Given the description of an element on the screen output the (x, y) to click on. 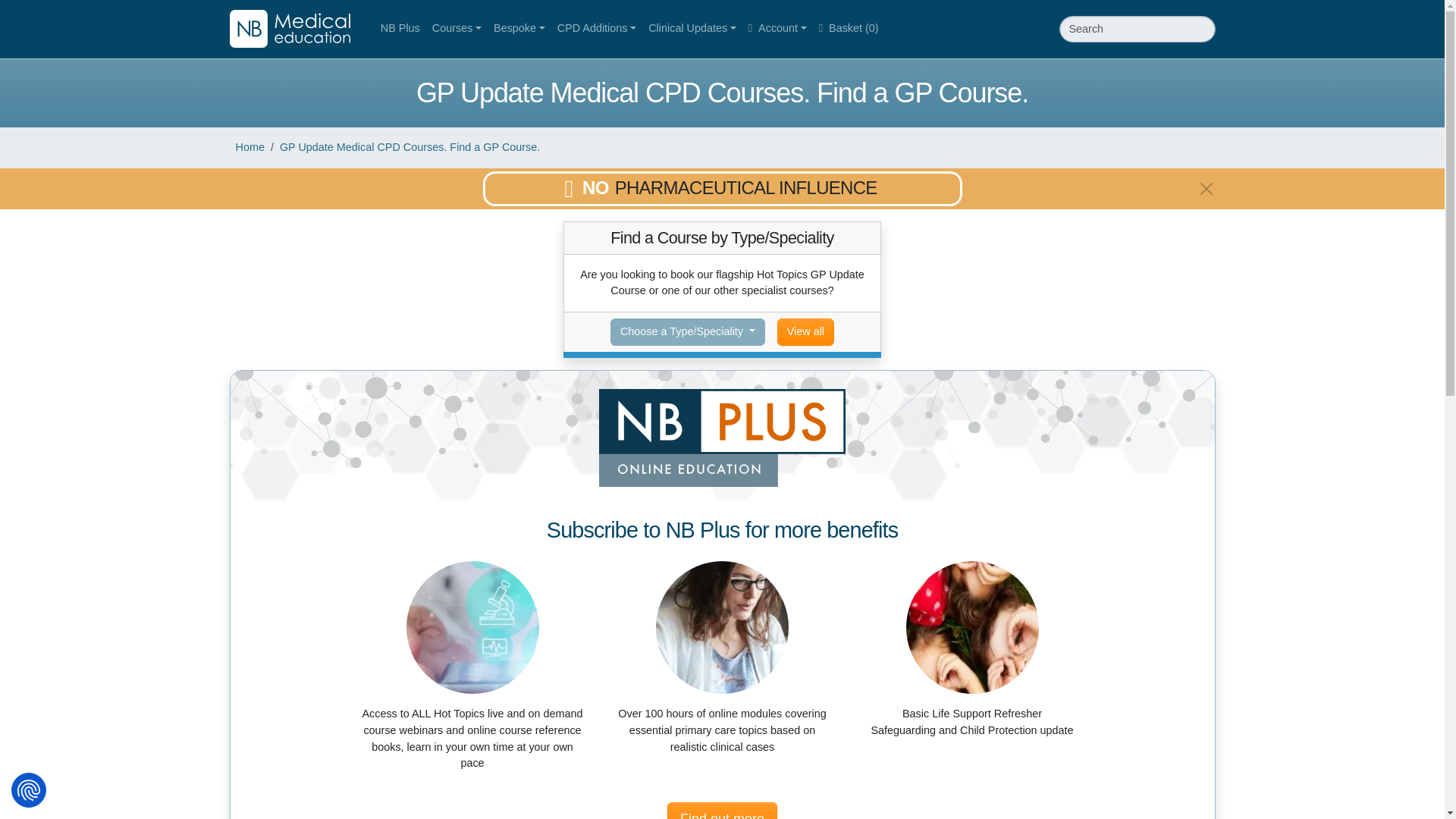
NB Plus (400, 28)
Clinical Updates (692, 28)
GP Update Medical CPD Courses. Find a GP Course. (409, 146)
Account (777, 28)
Home (248, 146)
Privacy settings (28, 790)
Courses (456, 28)
CPD Additions (596, 28)
Bespoke (519, 28)
